Given the description of an element on the screen output the (x, y) to click on. 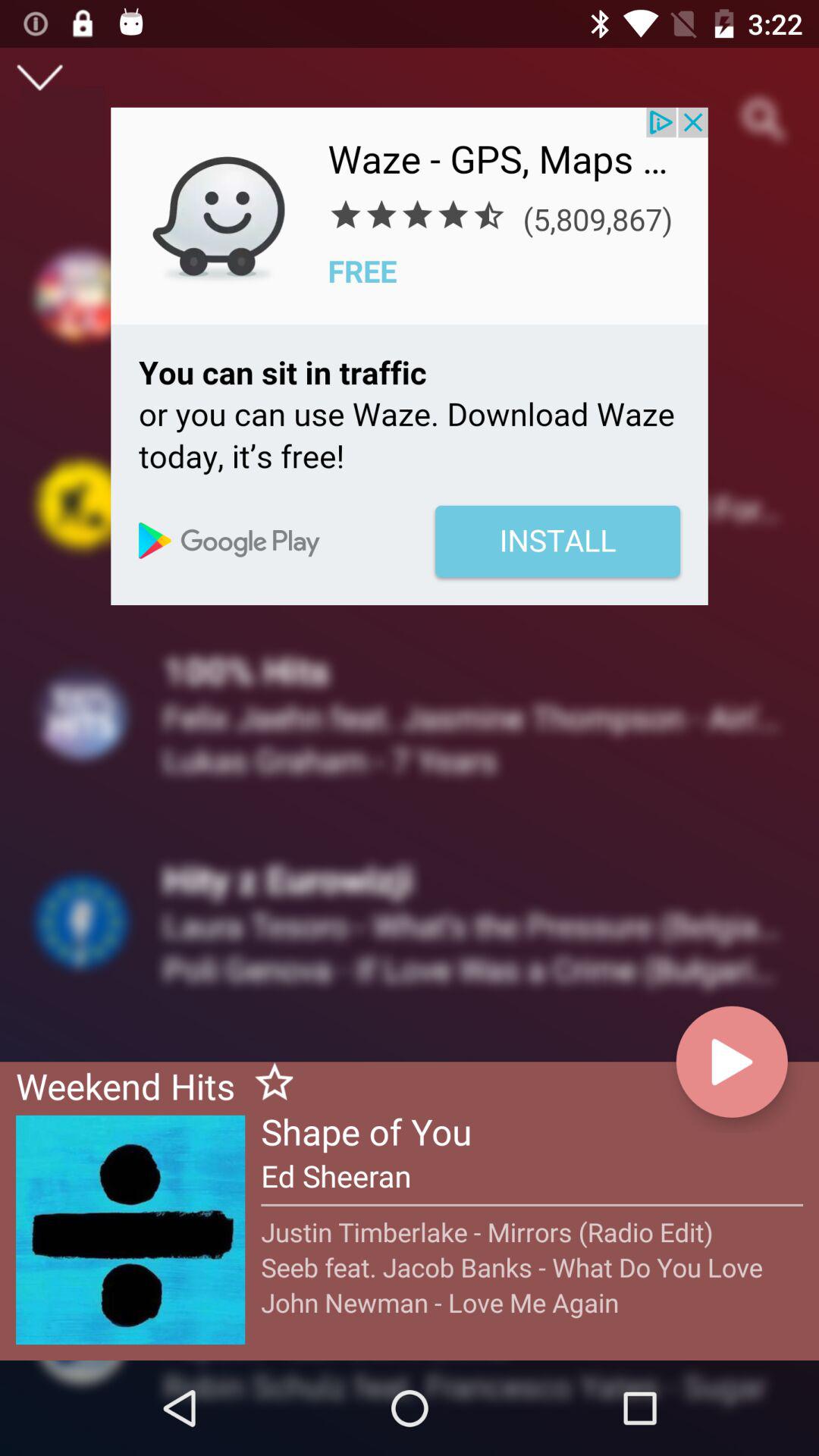
read the details of advertisement (409, 356)
